Given the description of an element on the screen output the (x, y) to click on. 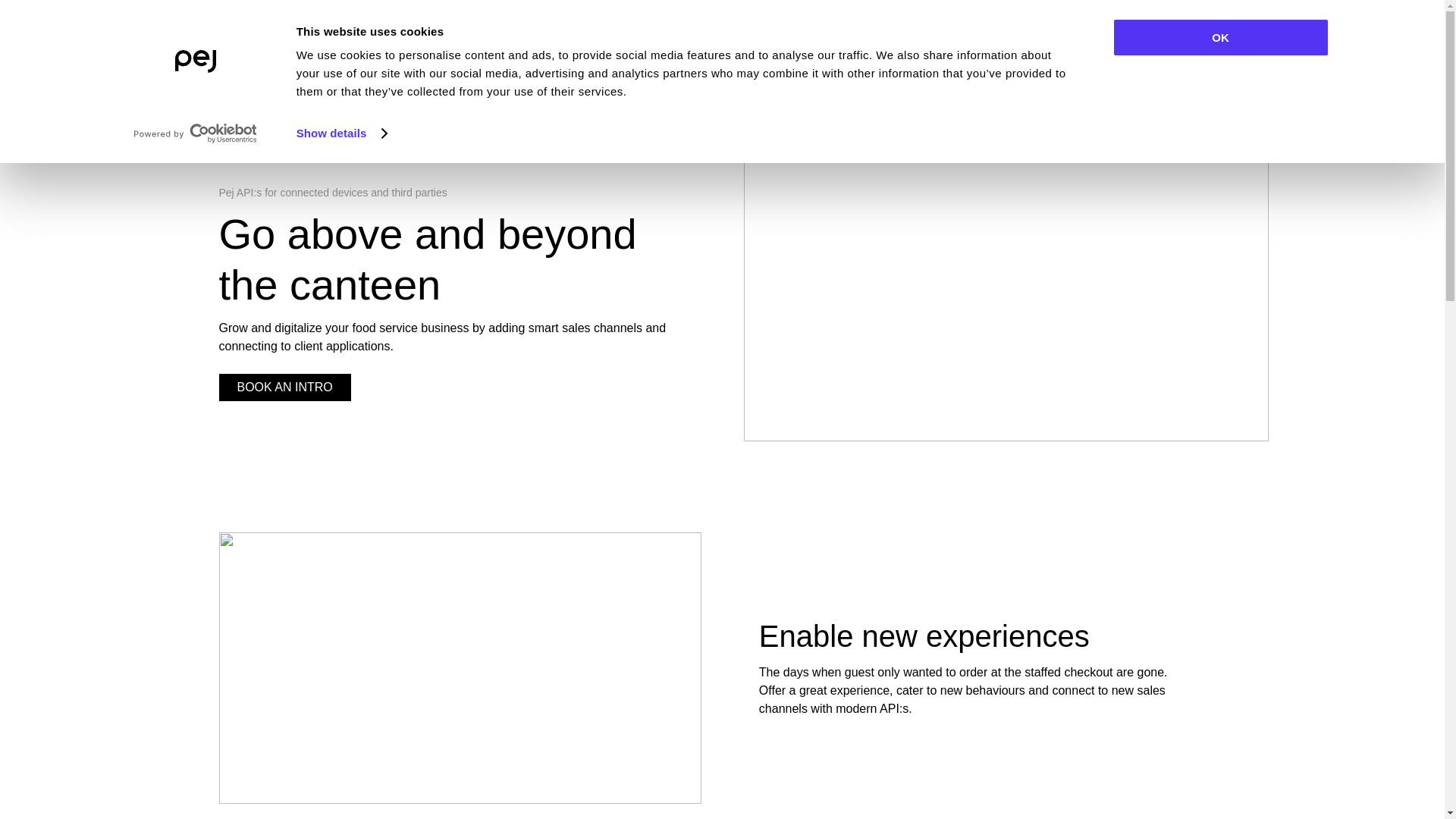
Show details (341, 133)
